Given the description of an element on the screen output the (x, y) to click on. 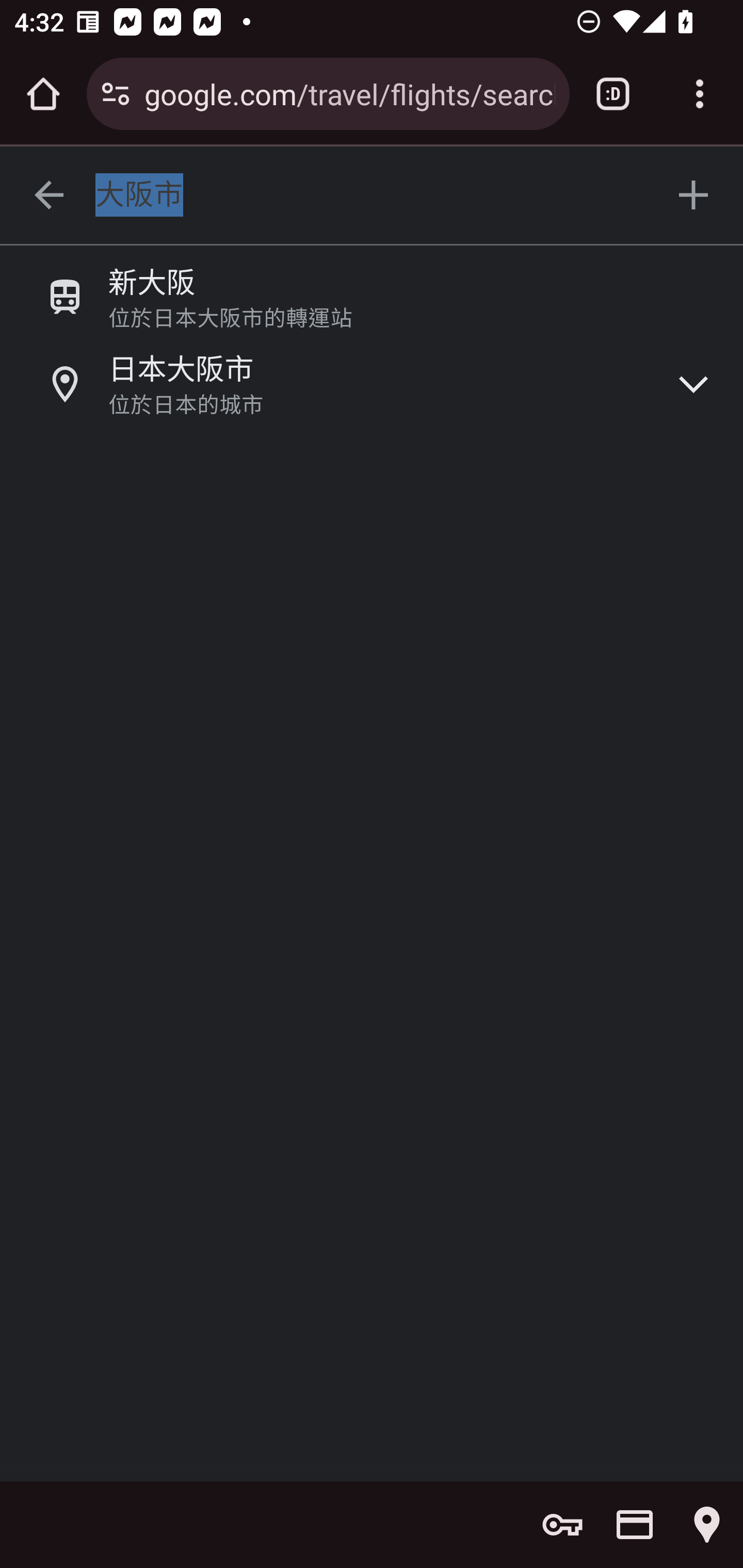
Open the home page (43, 93)
Connection is secure (115, 93)
Switch or close tabs (612, 93)
Customize and control Google Chrome (699, 93)
上一頁 (48, 195)
大阪市 (372, 195)
目的地, 選擇多個機場 (694, 195)
切換日本大阪市附近的機場 (694, 383)
Show saved passwords and password options (562, 1524)
Show saved payment methods (634, 1524)
Show saved addresses (706, 1524)
